Given the description of an element on the screen output the (x, y) to click on. 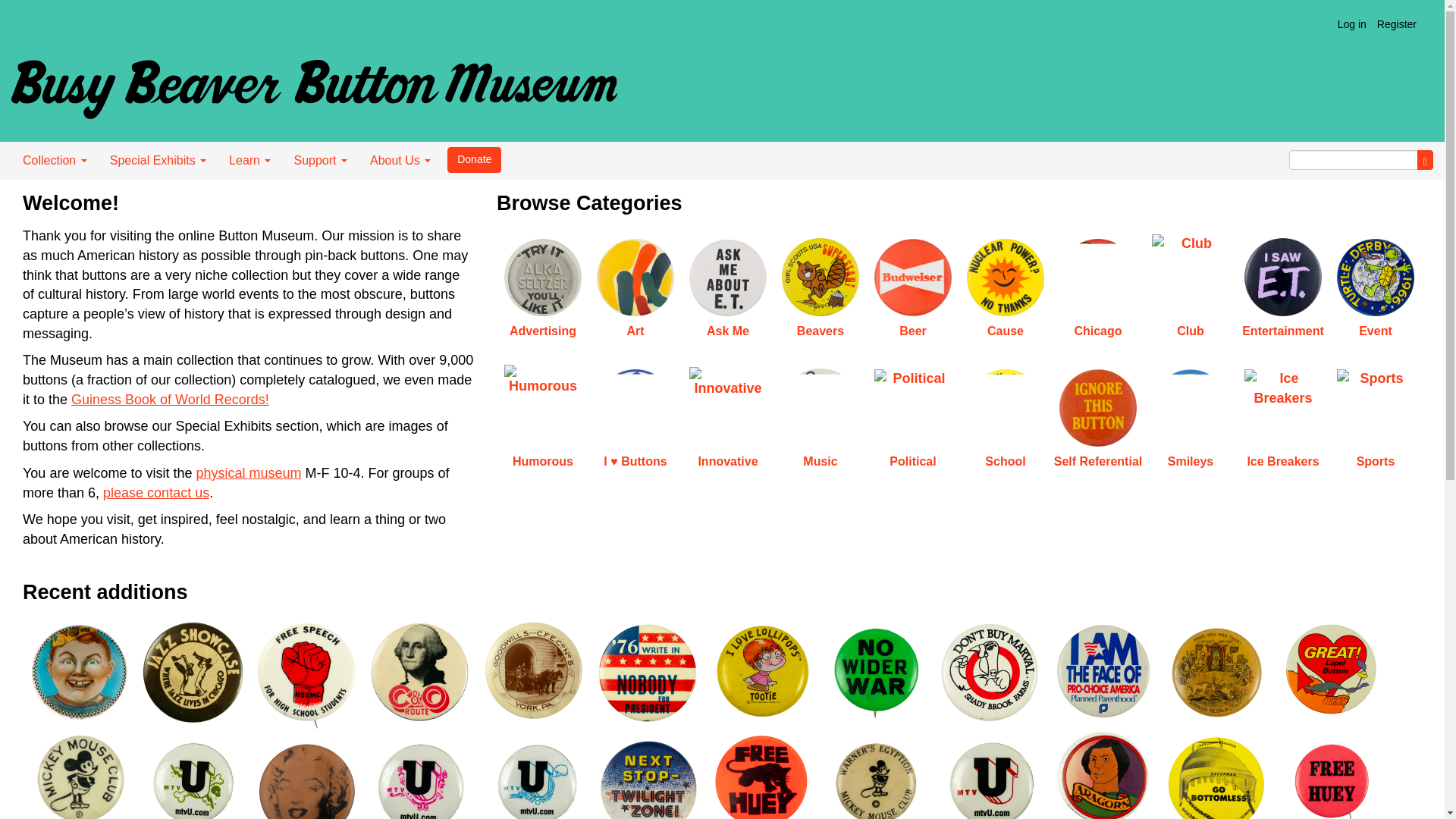
Don't Buy Marval (989, 671)
About Us (400, 160)
Great Lapel Button (1330, 669)
Aragorn (1103, 771)
Log in (1351, 23)
Free Huey Panther (761, 772)
Dominion Regalia (1217, 671)
Guiness Book of World Records! (170, 399)
Special Exhibits (157, 160)
Support (320, 160)
Mickey Mouse Club (79, 773)
No Wider War (875, 671)
Donate (473, 159)
I am the Face of Pro-Choice America (1103, 669)
